Given the description of an element on the screen output the (x, y) to click on. 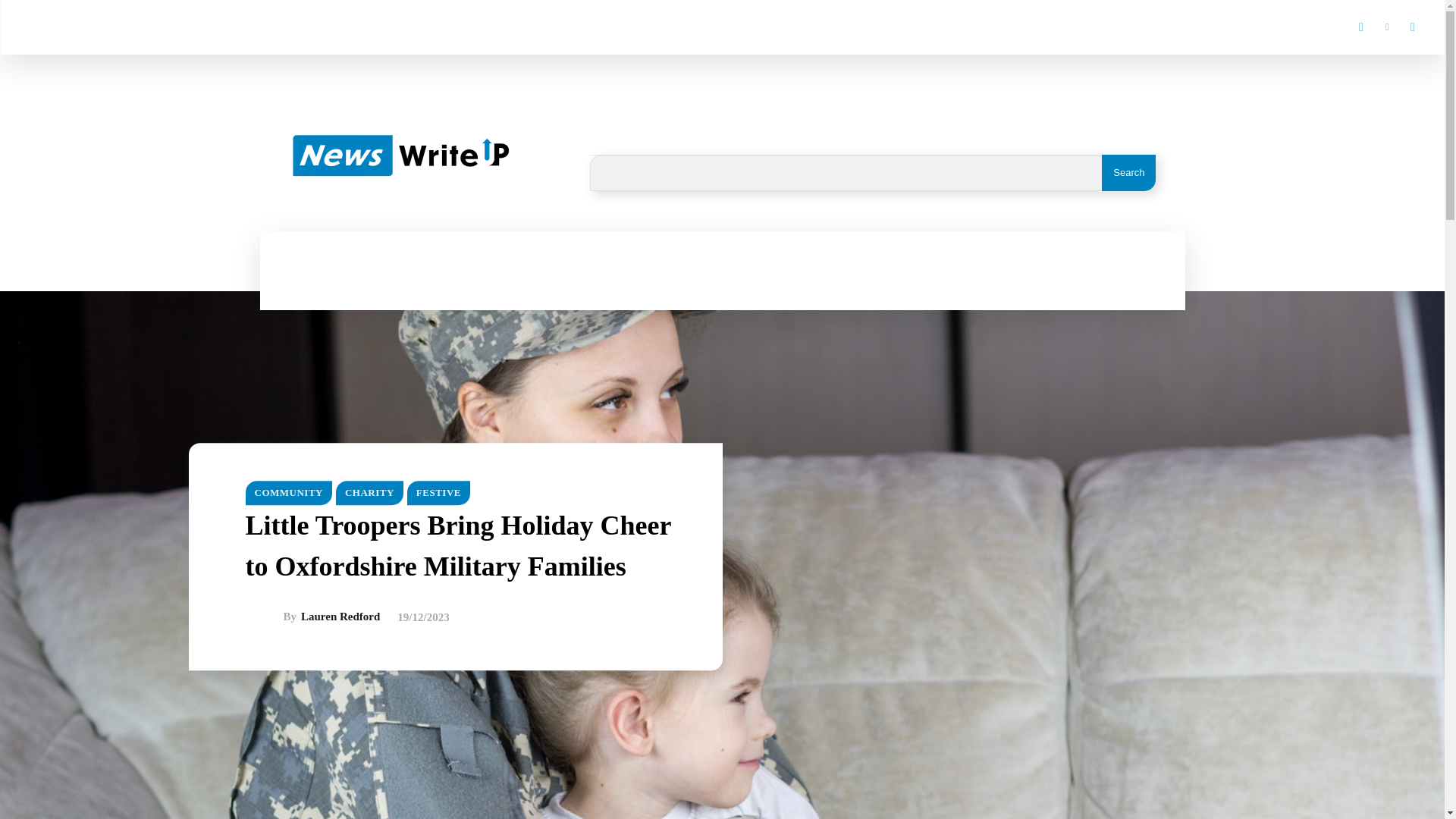
Lauren Redford (264, 616)
Twitter (1412, 27)
Linkedin (1386, 27)
Facebook (1361, 27)
